Given the description of an element on the screen output the (x, y) to click on. 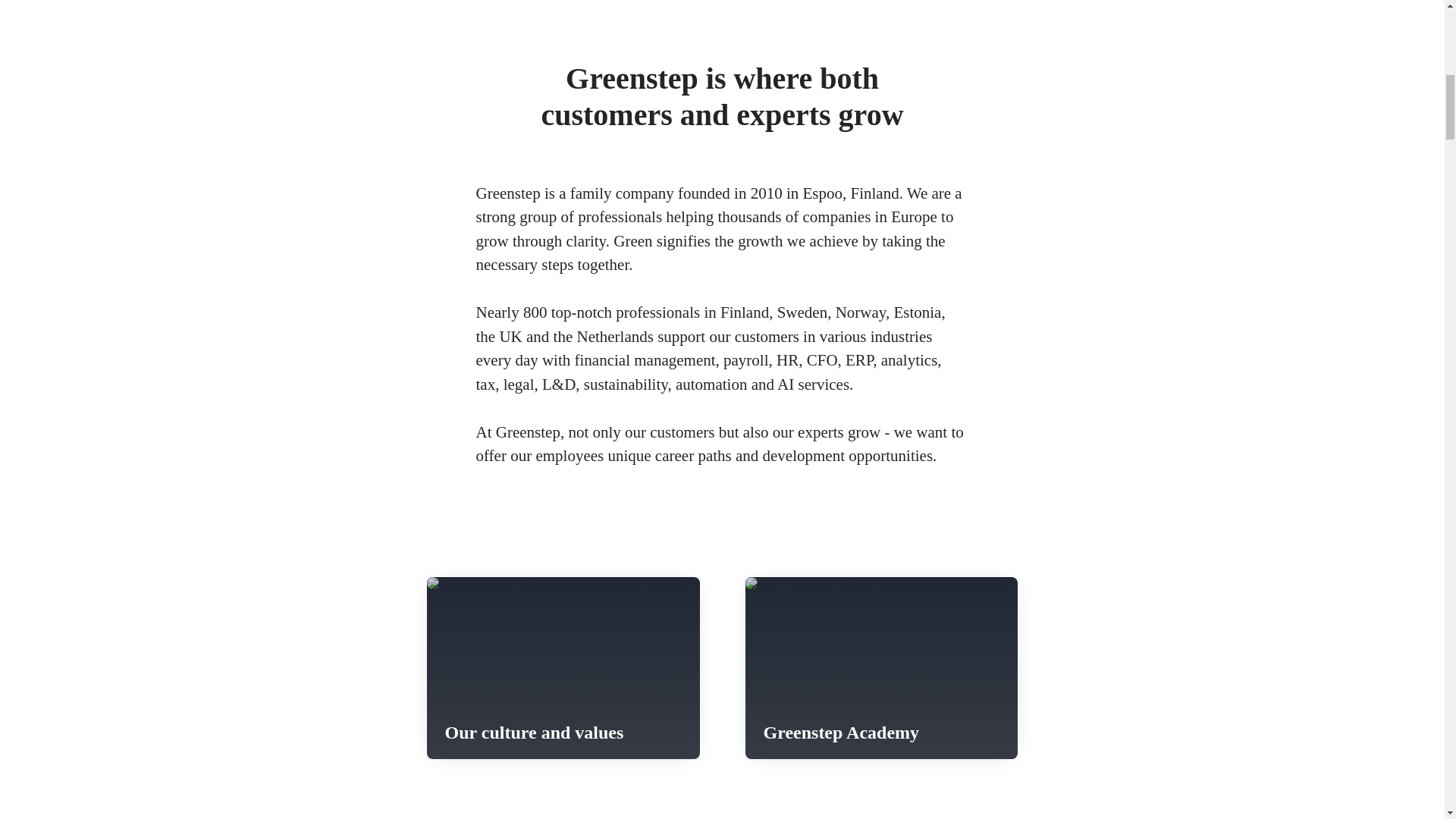
Our culture and values (563, 668)
Greenstep Academy (880, 668)
